Given the description of an element on the screen output the (x, y) to click on. 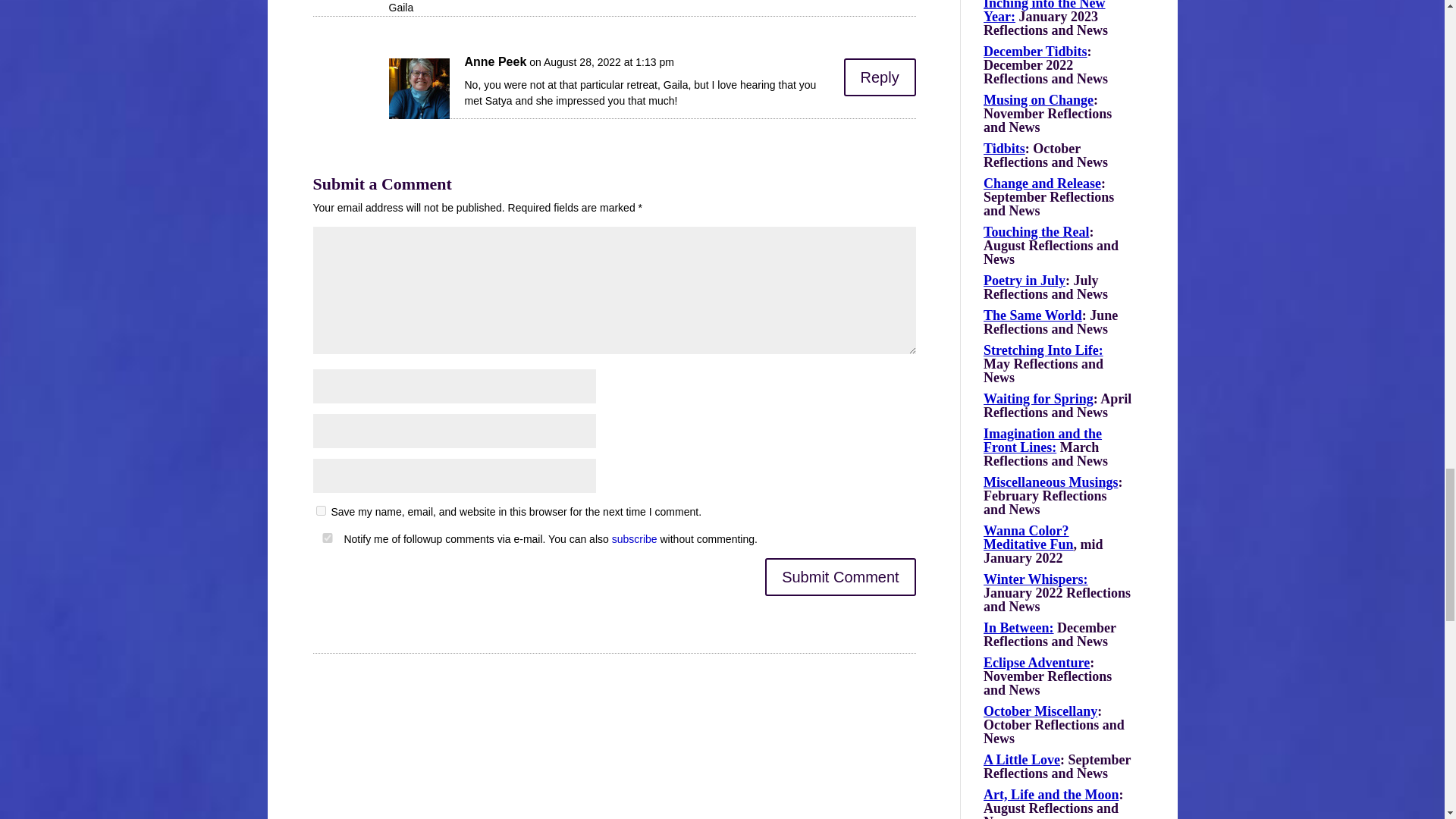
yes (319, 510)
Submit Comment (840, 576)
yes (326, 537)
